Given the description of an element on the screen output the (x, y) to click on. 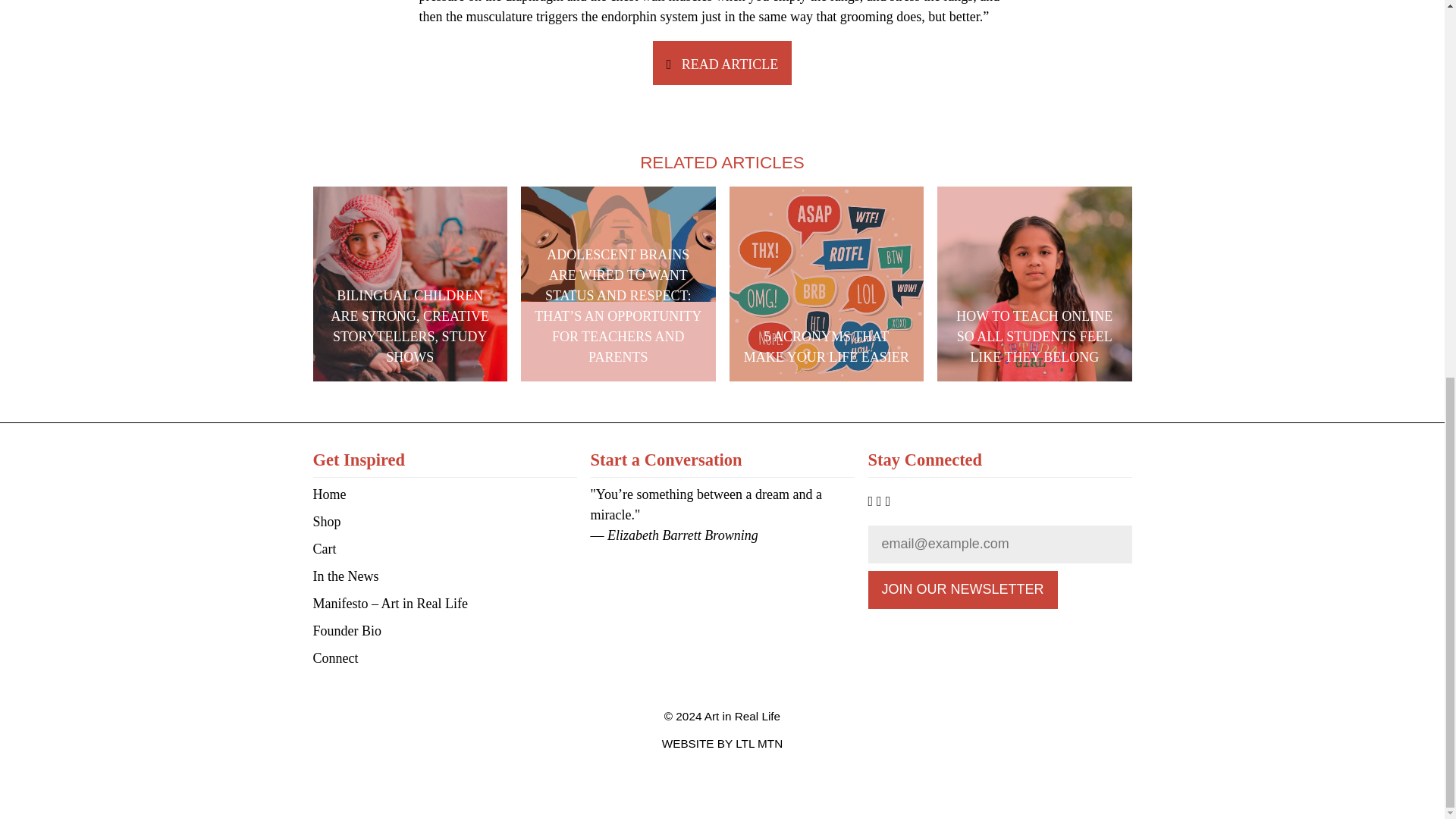
Open external article in a new tab. (722, 62)
How to Teach Online So All Students Feel Like They Belong (1034, 283)
5 Acronyms That Make Your Life Easier (826, 283)
Join our Newsletter (962, 589)
